Given the description of an element on the screen output the (x, y) to click on. 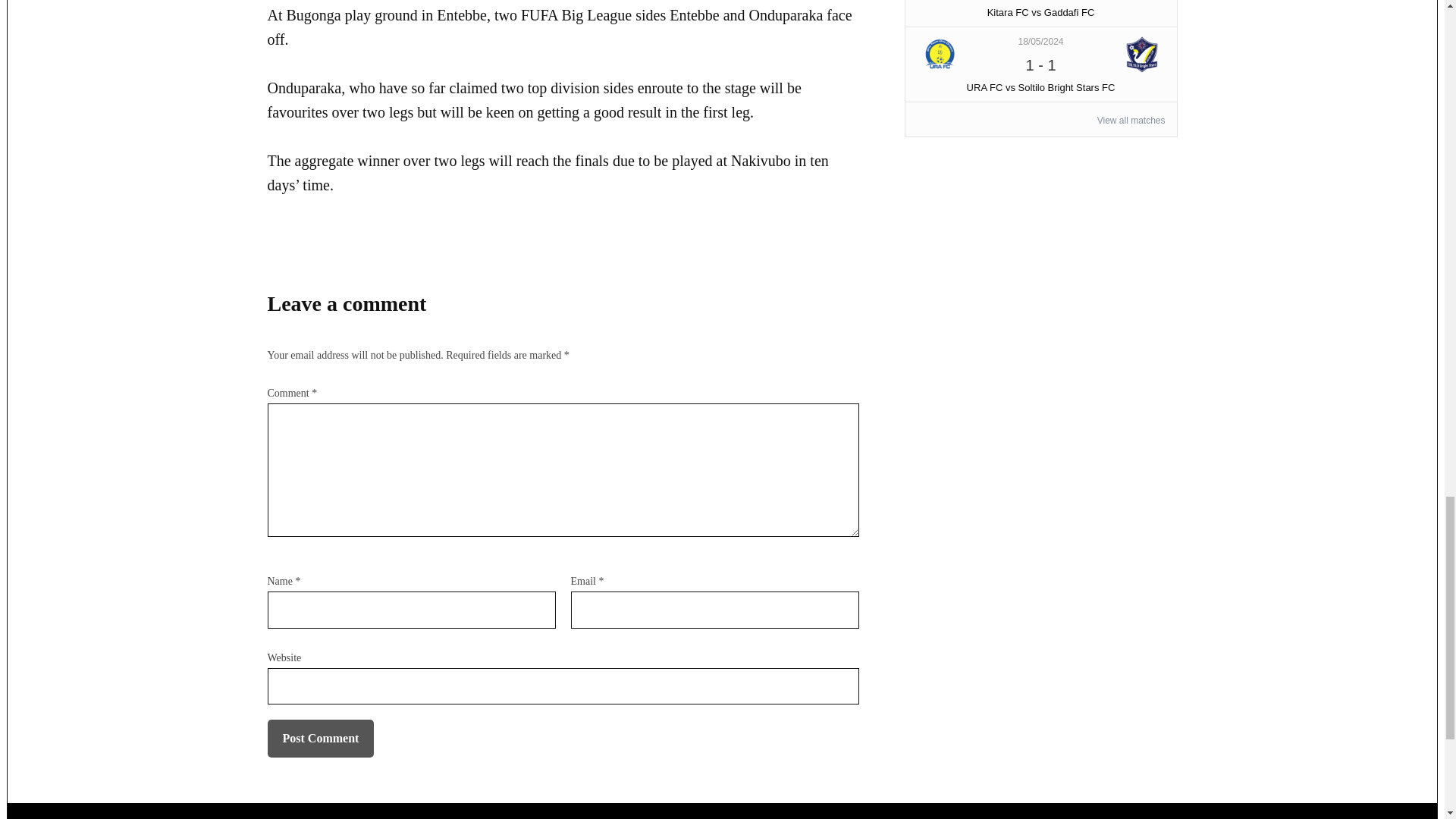
Post Comment (320, 738)
Soltilo Bright Stars FC (1142, 54)
URA FC (940, 54)
